Given the description of an element on the screen output the (x, y) to click on. 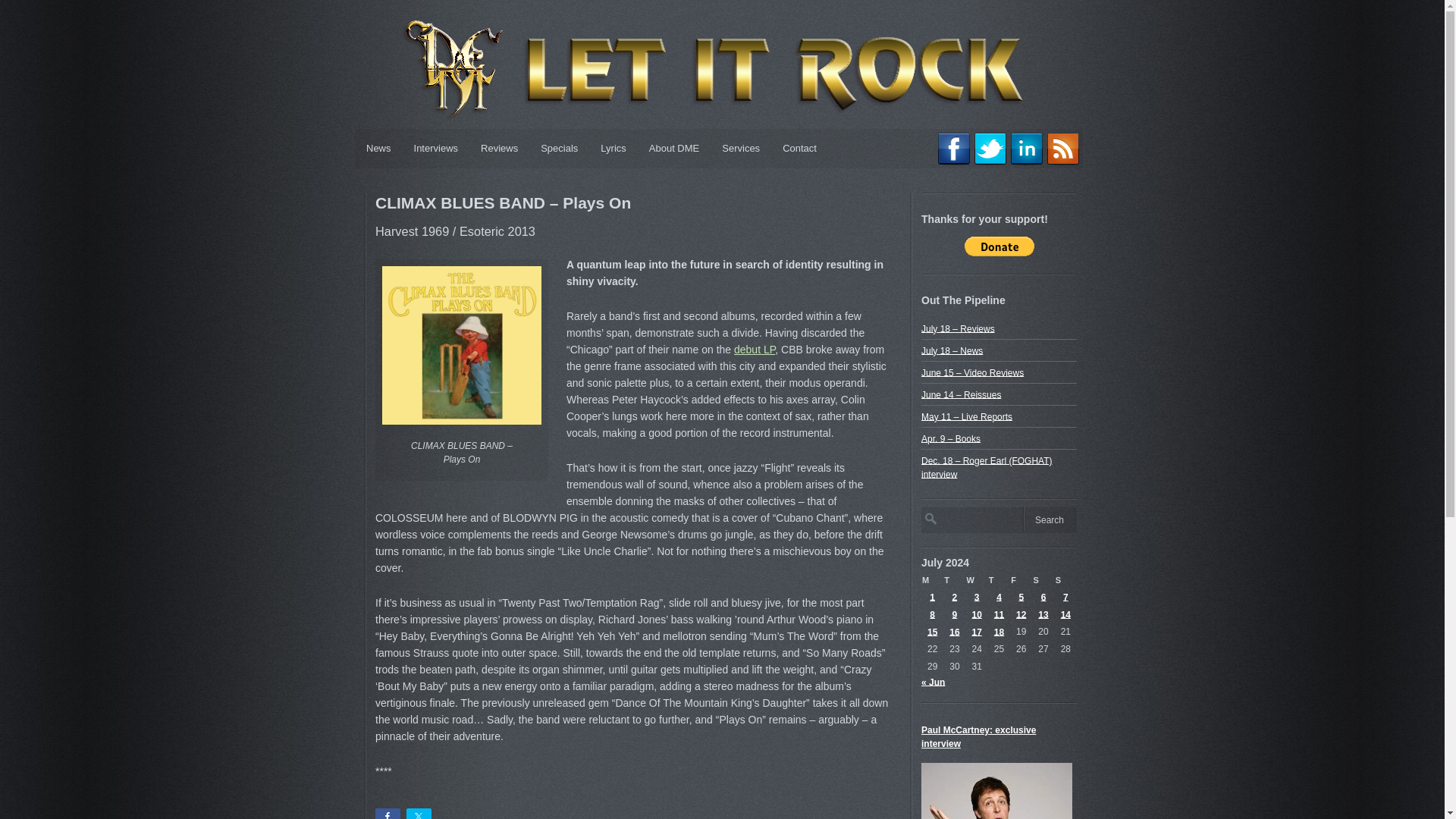
Share on Twitter (418, 813)
debut LP (753, 349)
Saturday (1043, 580)
Tuesday (954, 580)
Contact (799, 148)
News (379, 148)
Interviews (436, 148)
About DME (673, 148)
Monday (932, 580)
Search (1049, 518)
Share on Facebook (387, 813)
Reviews (498, 148)
Wednesday (977, 580)
Specials (559, 148)
Thursday (999, 580)
